Given the description of an element on the screen output the (x, y) to click on. 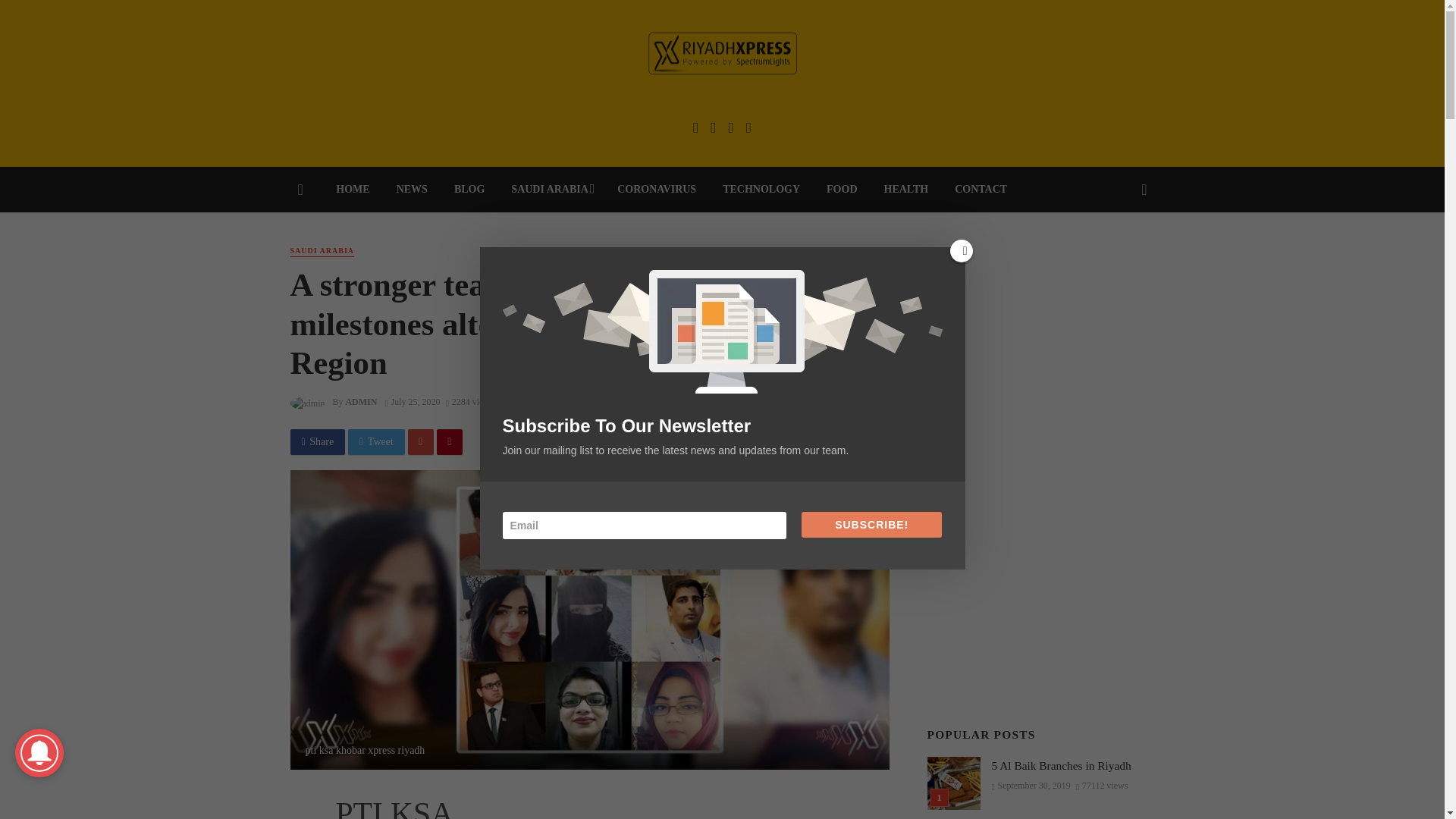
HOME (352, 189)
SAUDI ARABIA (550, 189)
BLOG (469, 189)
FOOD (841, 189)
July 25, 2020 at 3:12 pm (413, 401)
TECHNOLOGY (761, 189)
CONTACT (981, 189)
Posts by admin (361, 401)
NEWS (411, 189)
CORONAVIRUS (657, 189)
ADMIN (361, 401)
HEALTH (906, 189)
SAUDI ARABIA (321, 251)
